Given the description of an element on the screen output the (x, y) to click on. 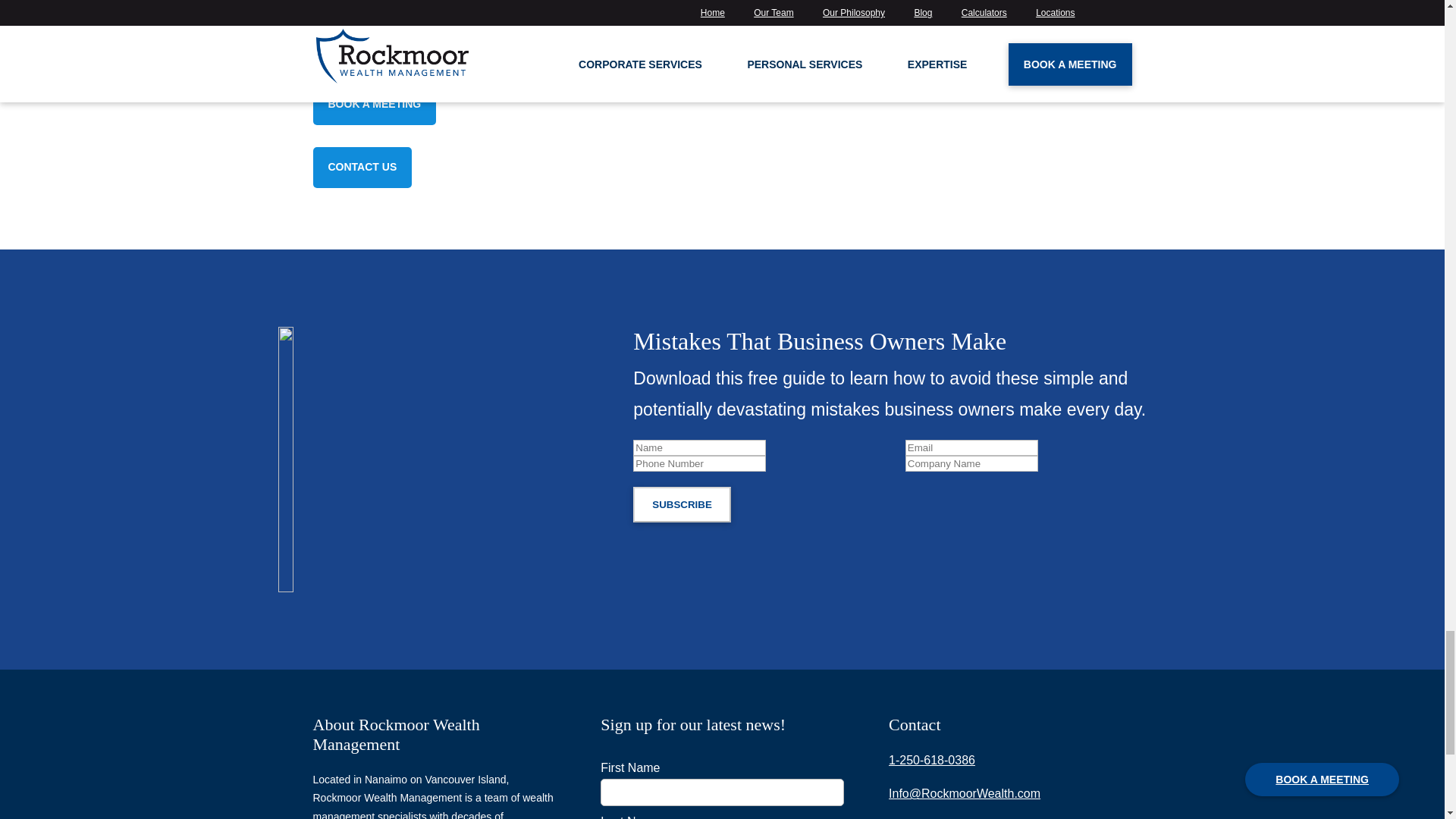
Subscribe (681, 504)
